Given the description of an element on the screen output the (x, y) to click on. 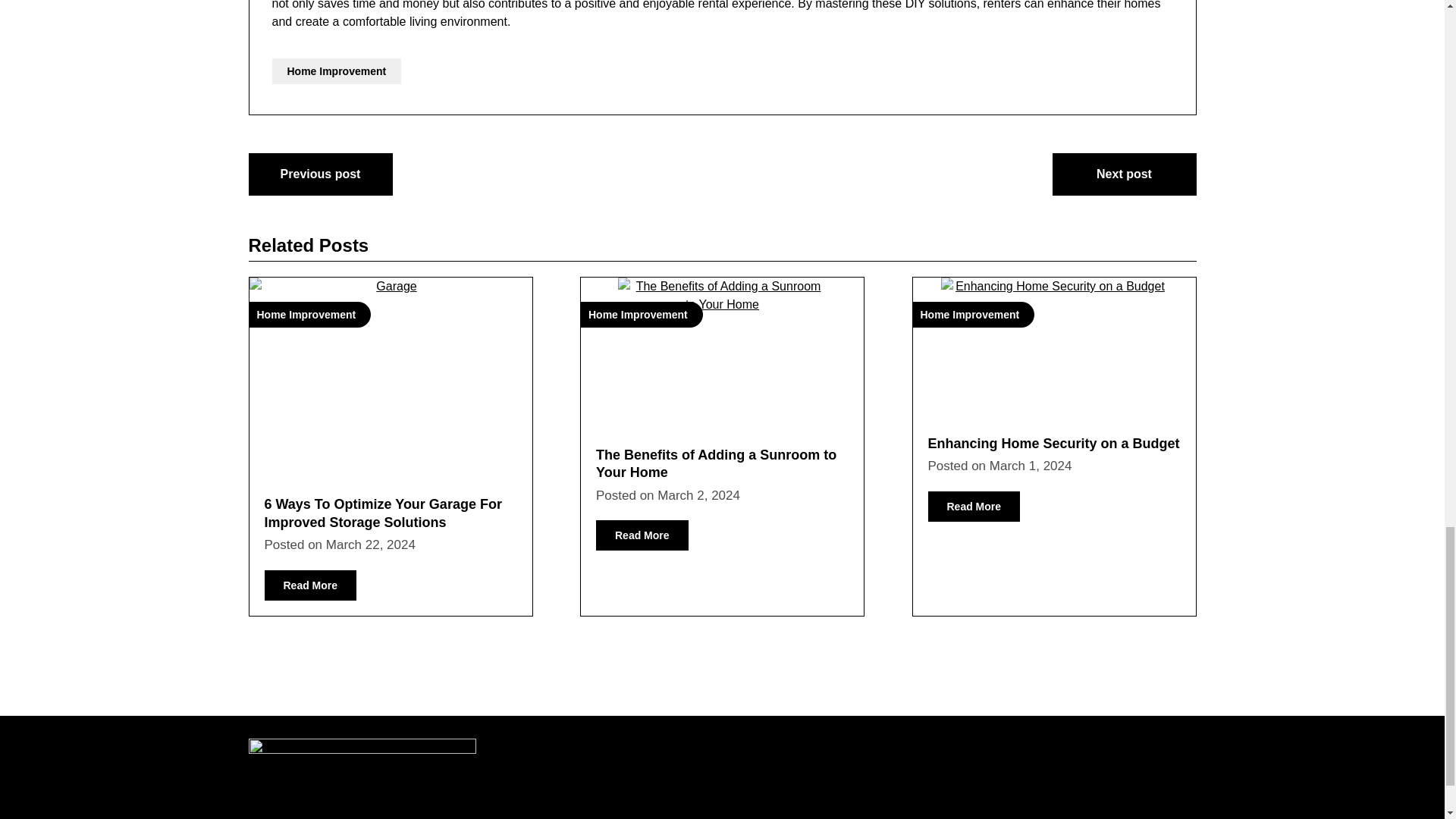
Home Improvement (389, 371)
Home Improvement (335, 71)
Previous post (320, 174)
Next post (1124, 174)
